Given the description of an element on the screen output the (x, y) to click on. 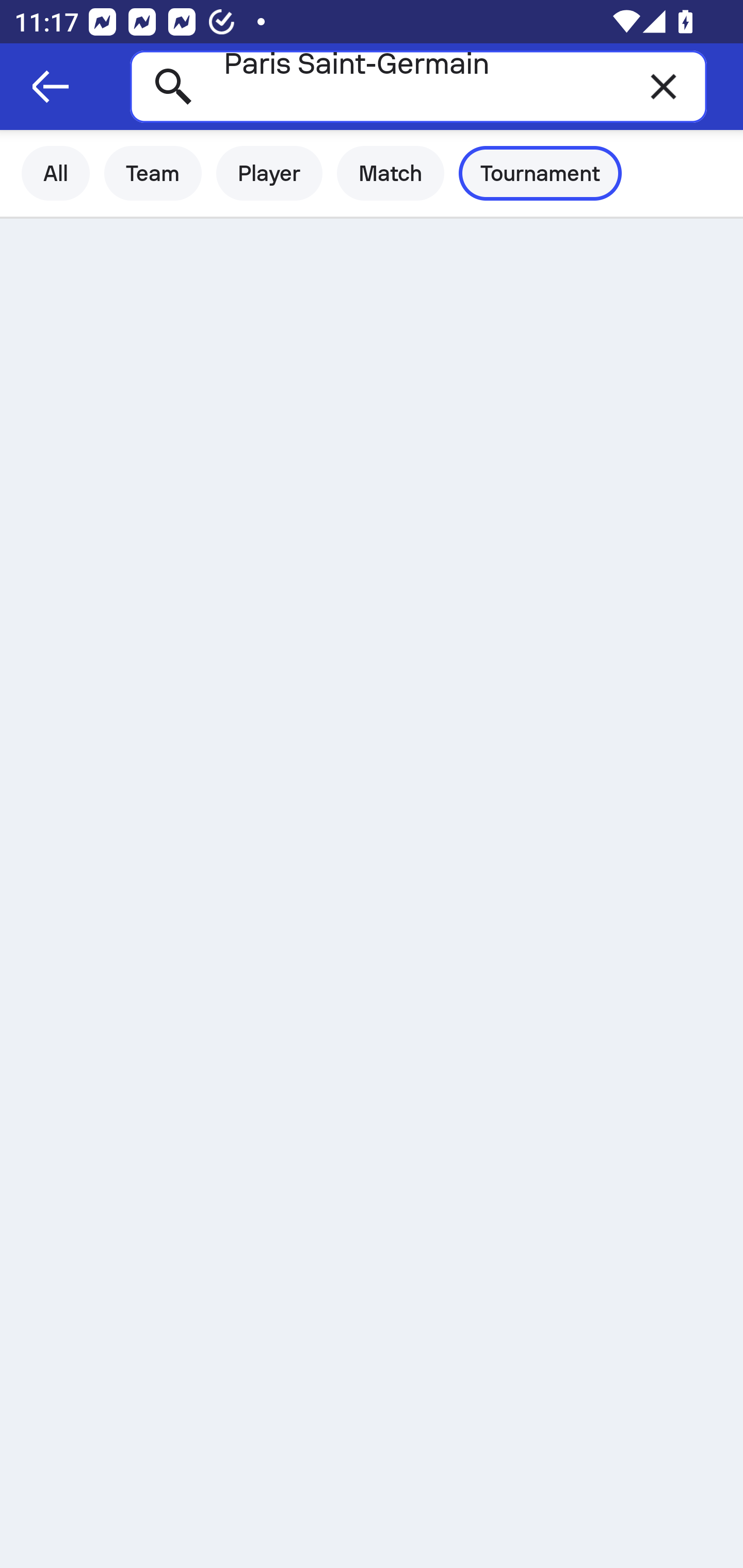
Navigate up (50, 86)
Paris Saint-Germain
 (418, 86)
Clear text (663, 86)
All (55, 172)
Team (152, 172)
Player (268, 172)
Match (390, 172)
Tournament (540, 172)
